Given the description of an element on the screen output the (x, y) to click on. 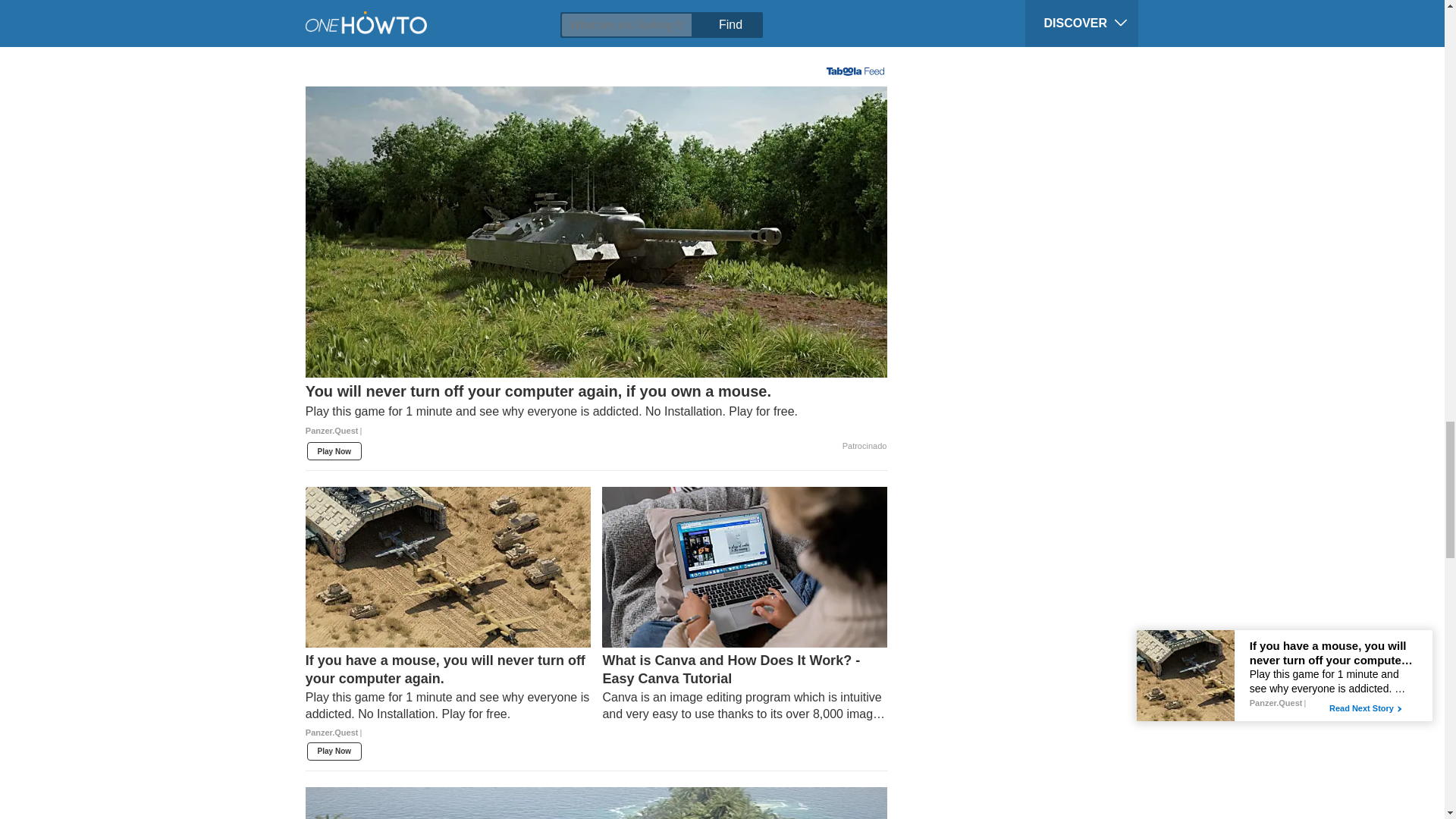
Play Now (334, 451)
